Given the description of an element on the screen output the (x, y) to click on. 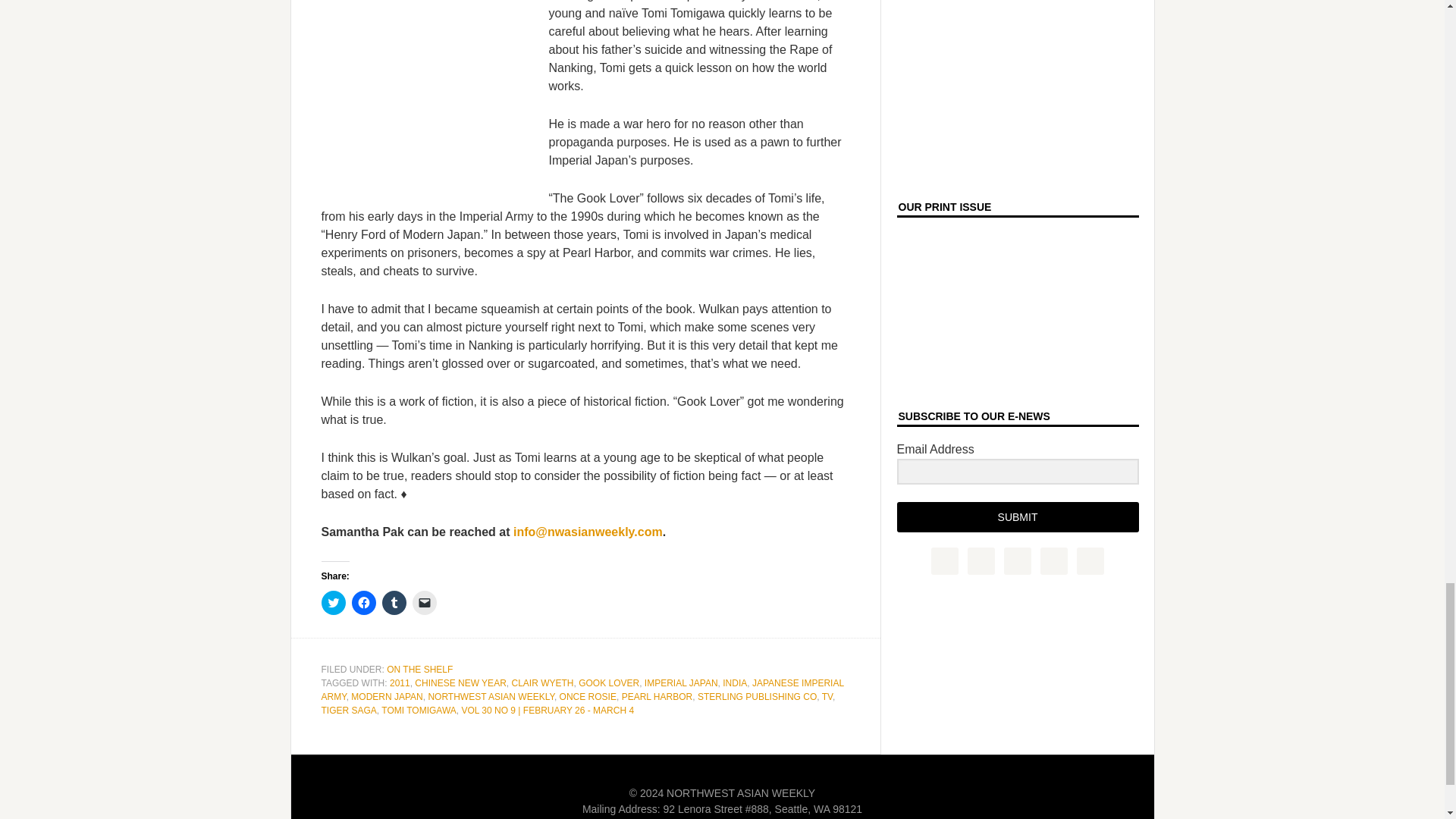
Click to share on Tumblr (393, 602)
Click to share on Twitter (333, 602)
Click to email a link to a friend (424, 602)
Click to share on Facebook (363, 602)
